Given the description of an element on the screen output the (x, y) to click on. 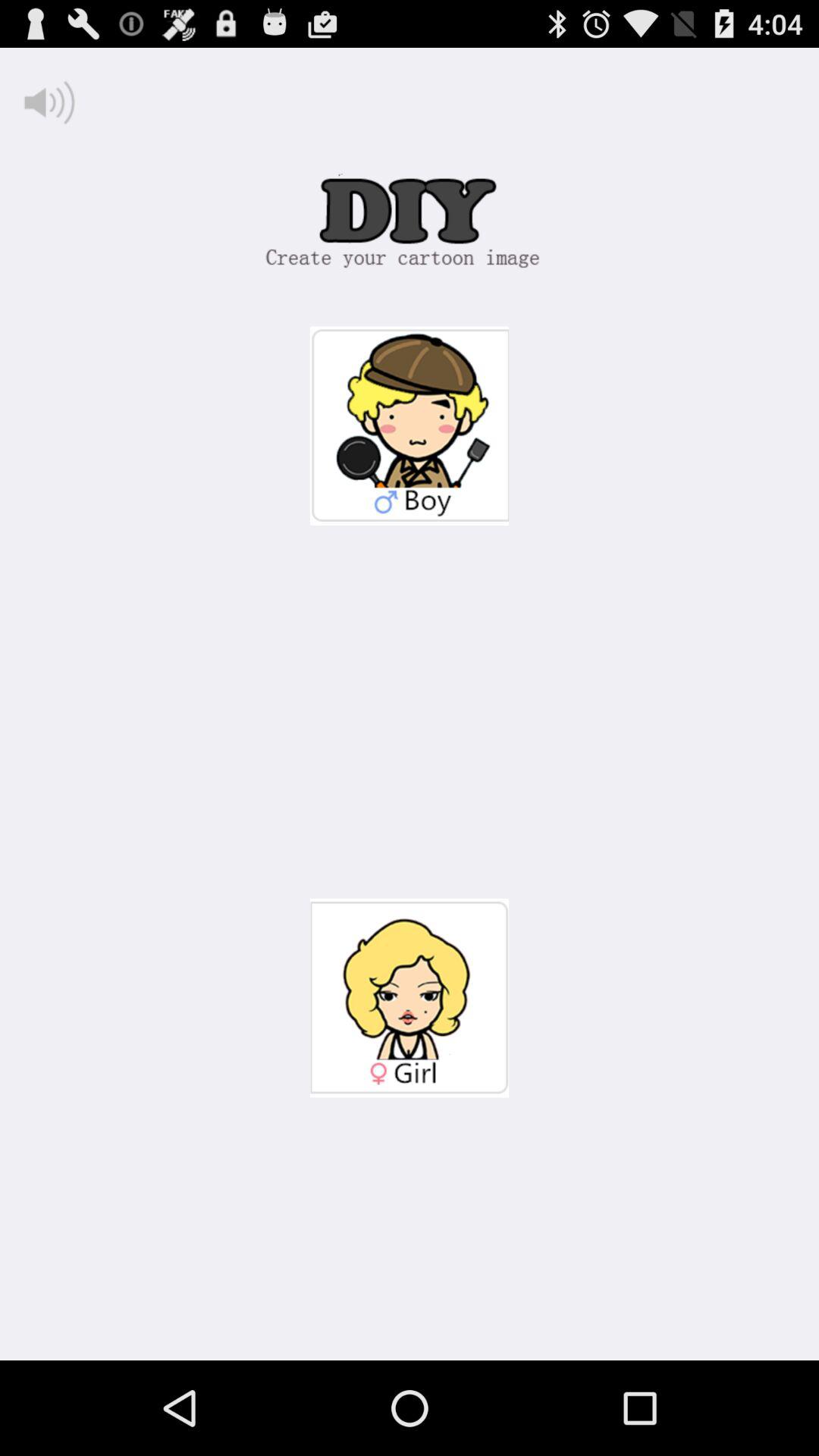
select boy (409, 425)
